Given the description of an element on the screen output the (x, y) to click on. 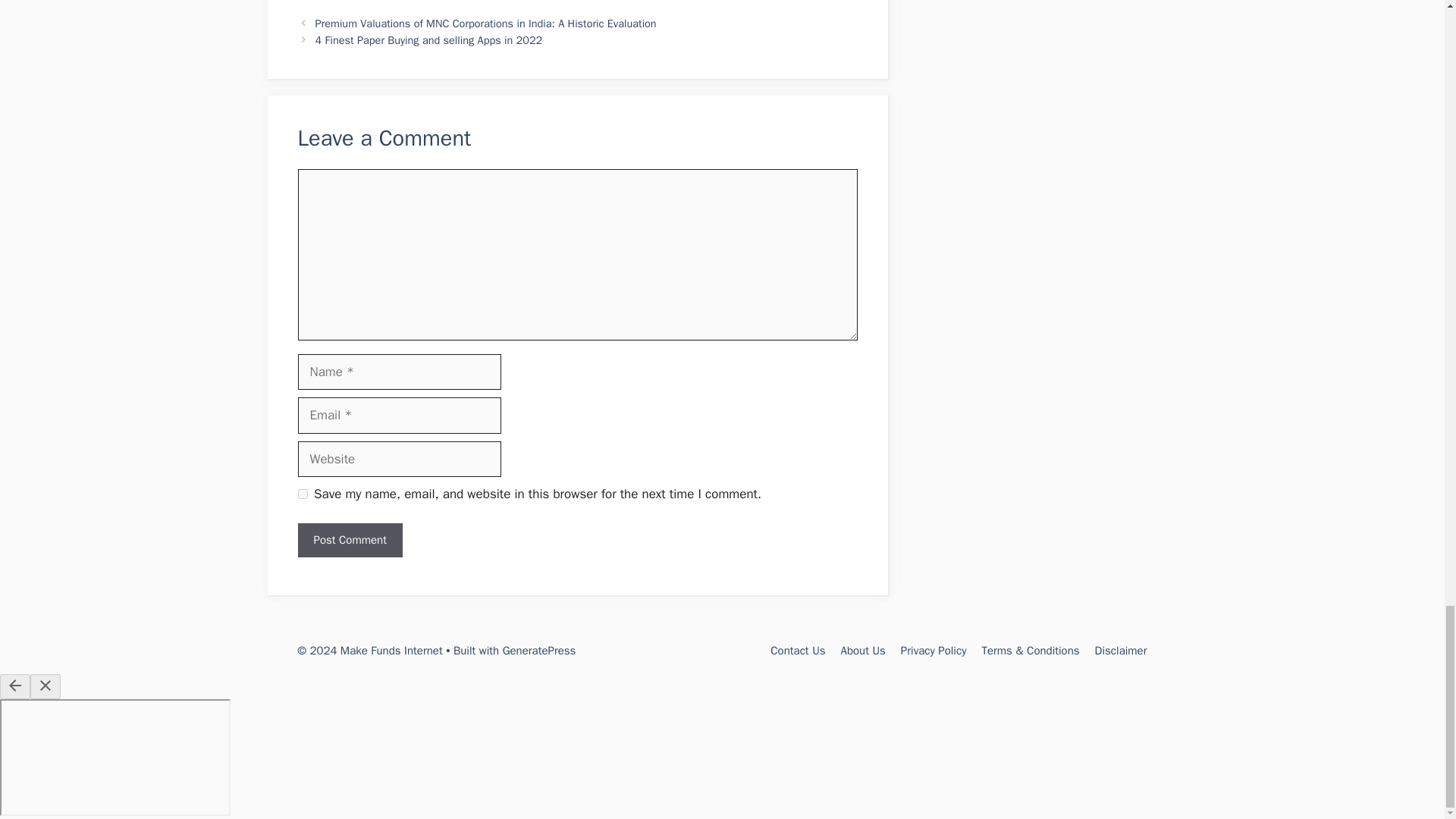
4 Finest Paper Buying and selling Apps in 2022 (429, 39)
yes (302, 493)
Post Comment (349, 540)
